Given the description of an element on the screen output the (x, y) to click on. 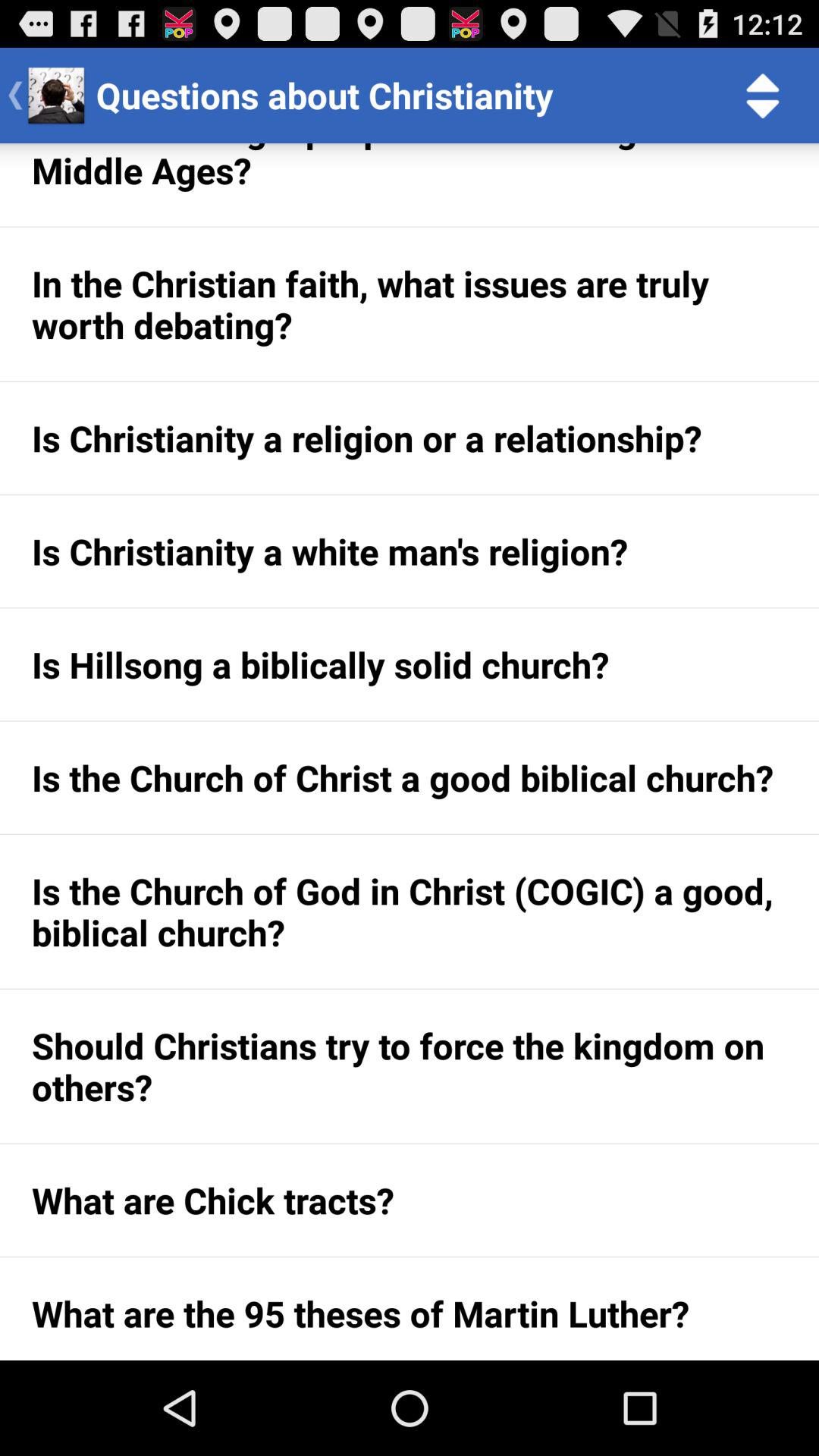
turn off the how was the app (409, 184)
